Given the description of an element on the screen output the (x, y) to click on. 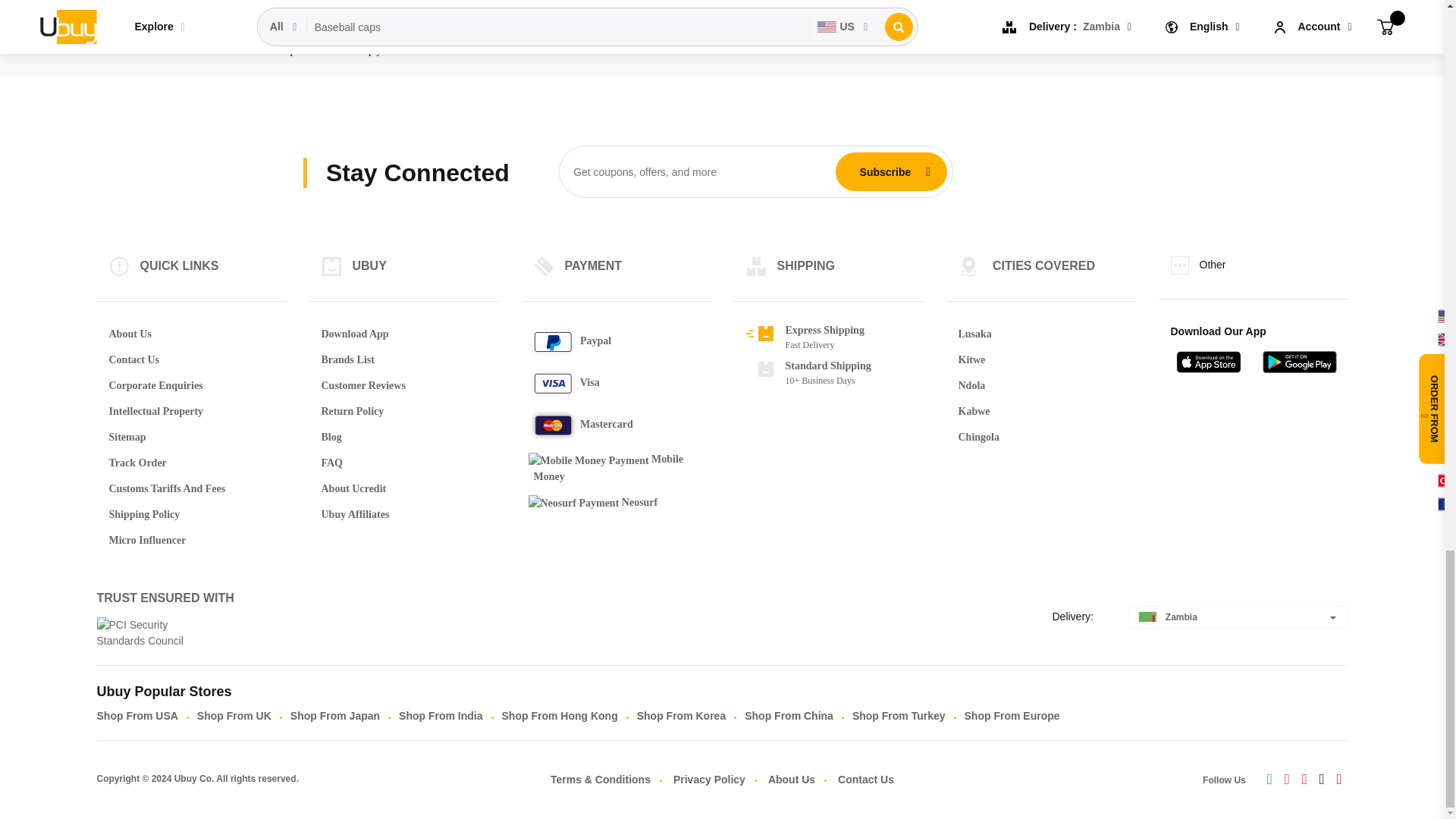
Subscribe (885, 172)
